Given the description of an element on the screen output the (x, y) to click on. 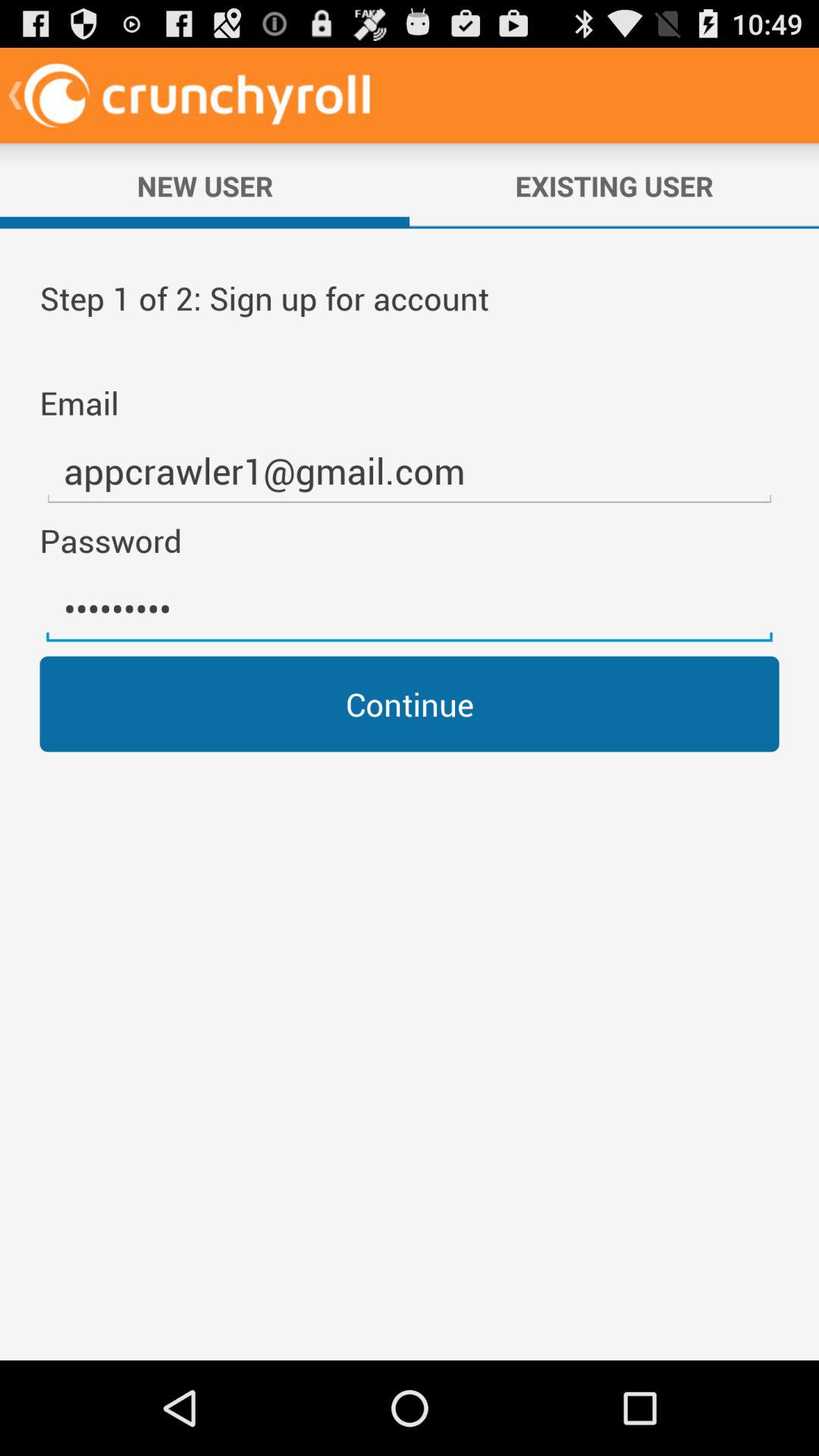
click existing user icon (614, 185)
